Given the description of an element on the screen output the (x, y) to click on. 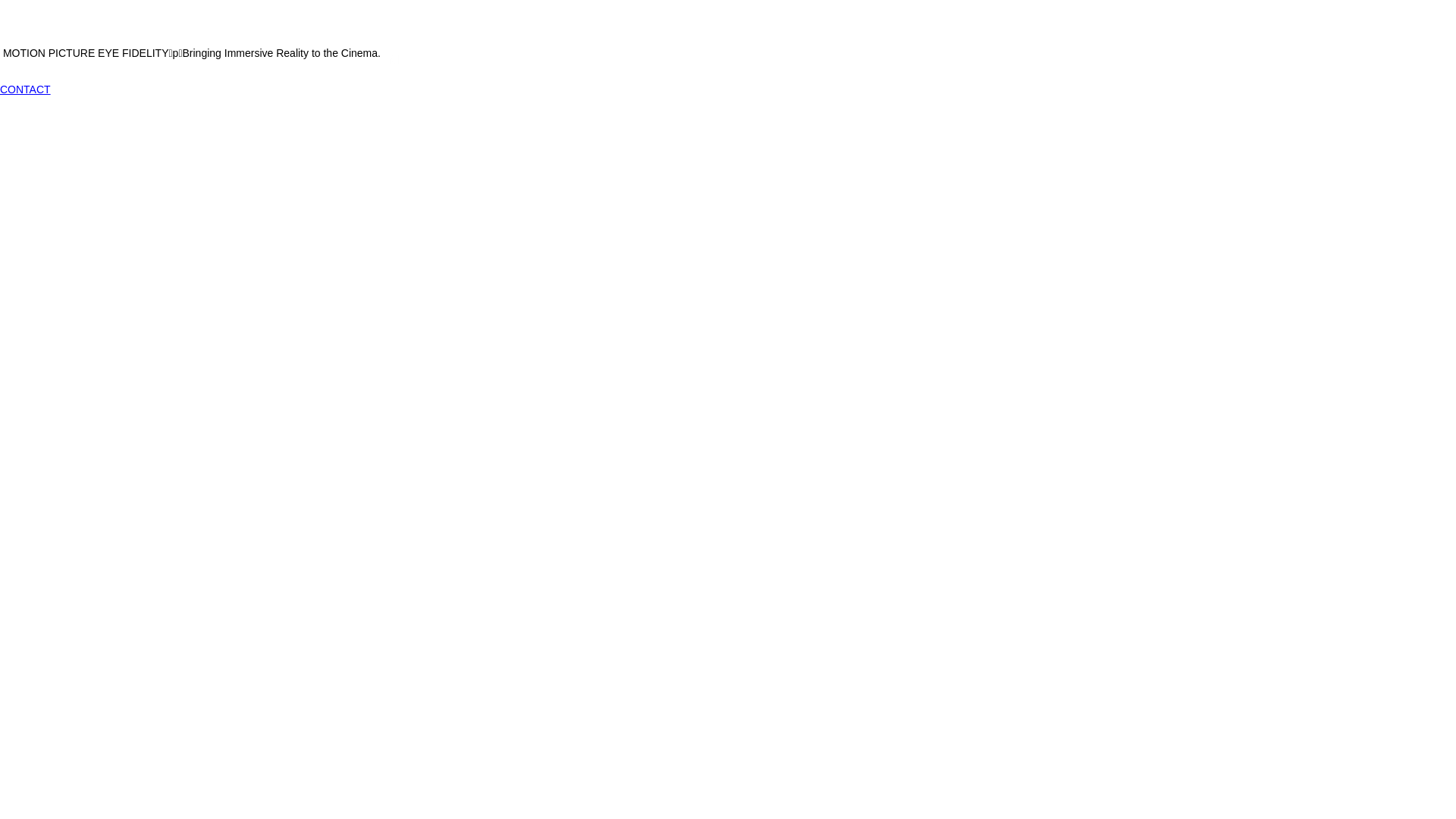
CONTACT Element type: text (25, 89)
